Given the description of an element on the screen output the (x, y) to click on. 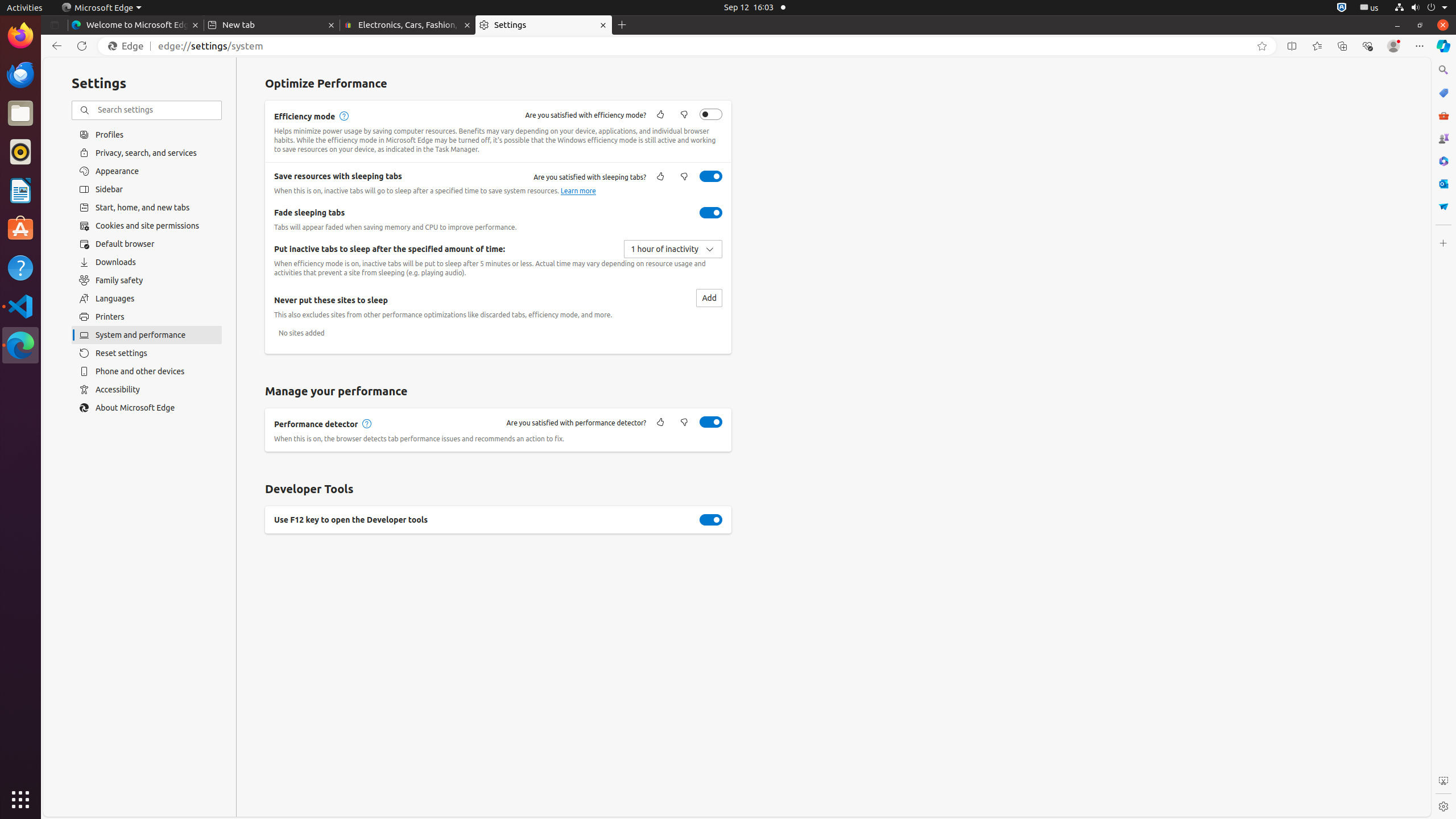
Use F12 key to open the Developer tools Element type: check-box (710, 519)
Refresh Element type: push-button (81, 45)
Printers Element type: tree-item (146, 316)
Copilot (Ctrl+Shift+.) Element type: push-button (1443, 45)
Favorites Element type: push-button (1316, 45)
